Given the description of an element on the screen output the (x, y) to click on. 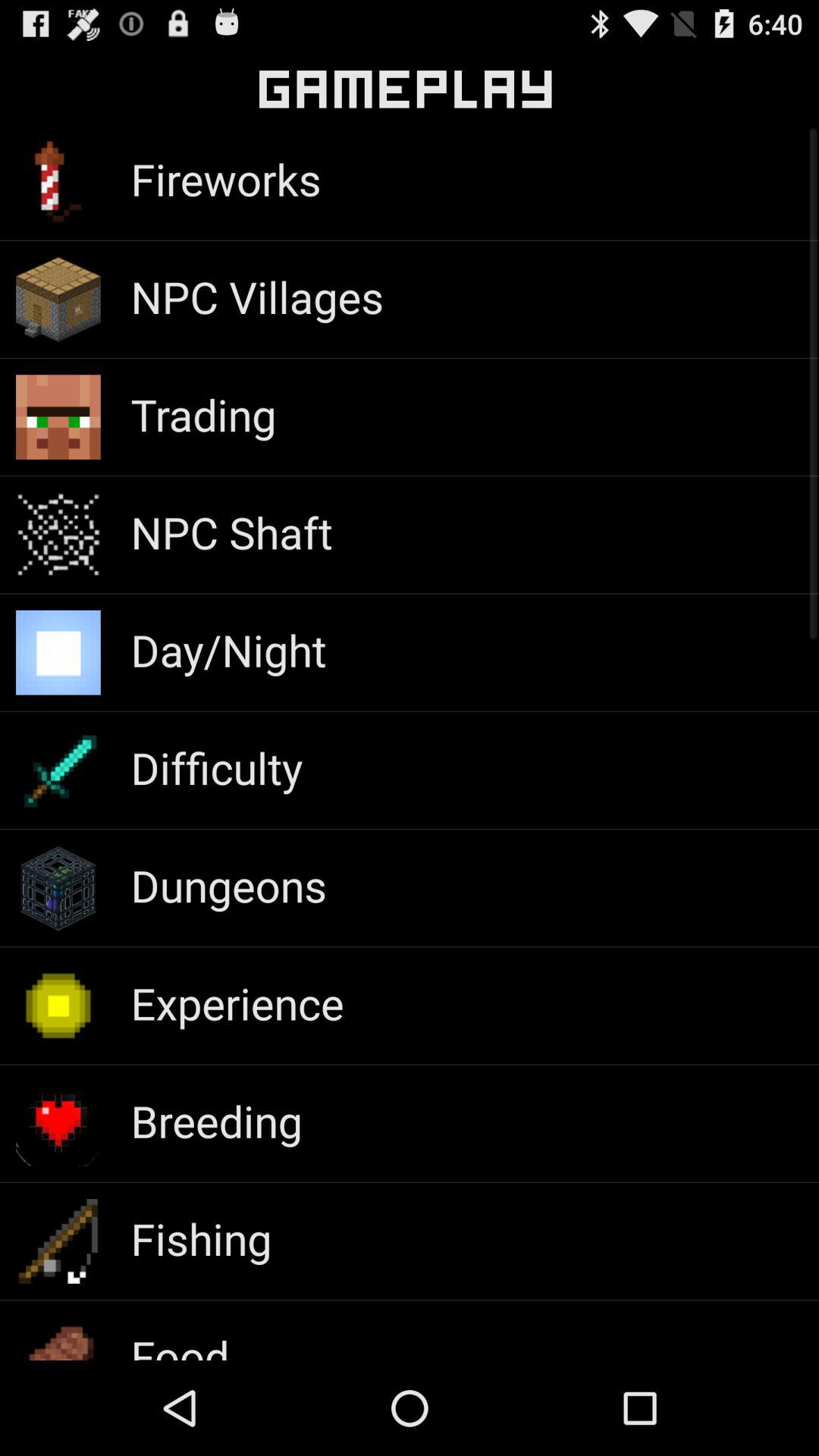
turn off food item (179, 1343)
